Given the description of an element on the screen output the (x, y) to click on. 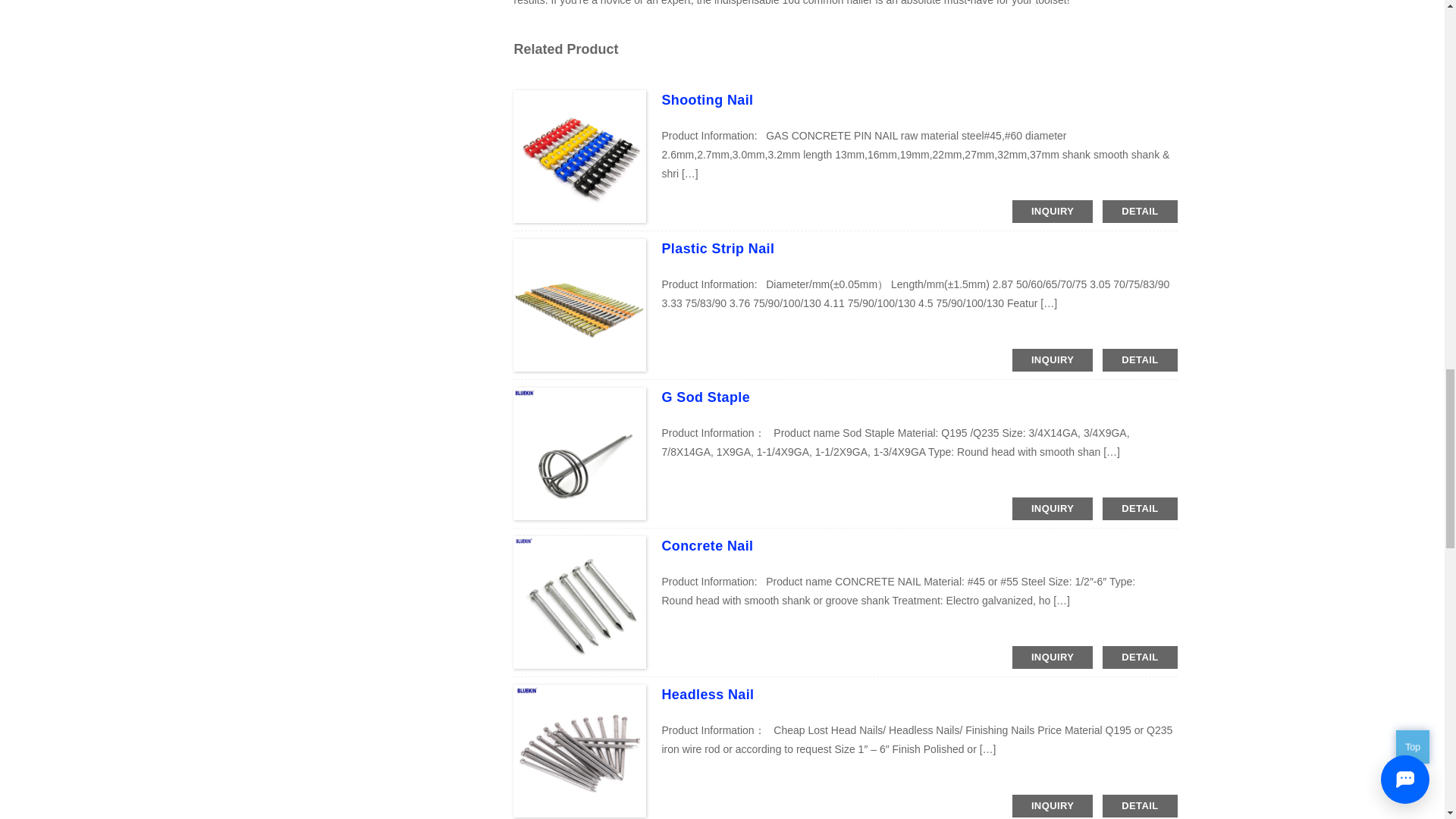
DETAIL (1139, 508)
INQUIRY (1052, 805)
DETAIL (1139, 657)
INQUIRY (1052, 210)
G Sod Staple (705, 396)
Plastic Strip Nail (717, 248)
INQUIRY (1052, 508)
G Sod Staple (705, 396)
Headless Nail (707, 694)
DETAIL (1139, 210)
